Given the description of an element on the screen output the (x, y) to click on. 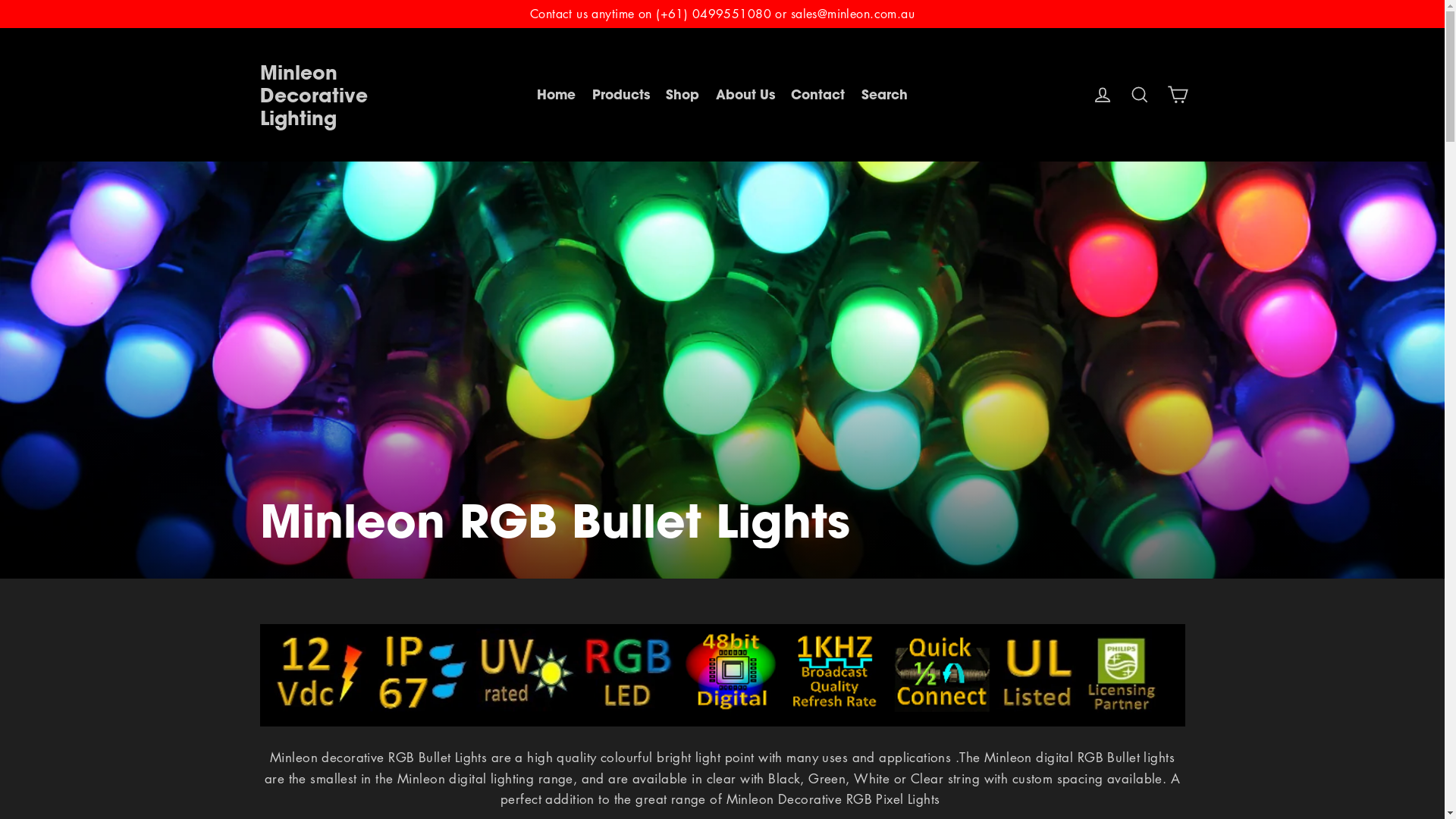
About Us Element type: text (745, 94)
Home Element type: text (555, 94)
Log in Element type: text (1102, 94)
Shop Element type: text (682, 94)
Contact Element type: text (817, 94)
Search Element type: text (884, 94)
Cart Element type: text (1176, 94)
Skip to content Element type: text (0, 0)
Search Element type: text (1139, 94)
Minleon Decorative Lighting Element type: text (313, 94)
Products Element type: text (620, 94)
